Given the description of an element on the screen output the (x, y) to click on. 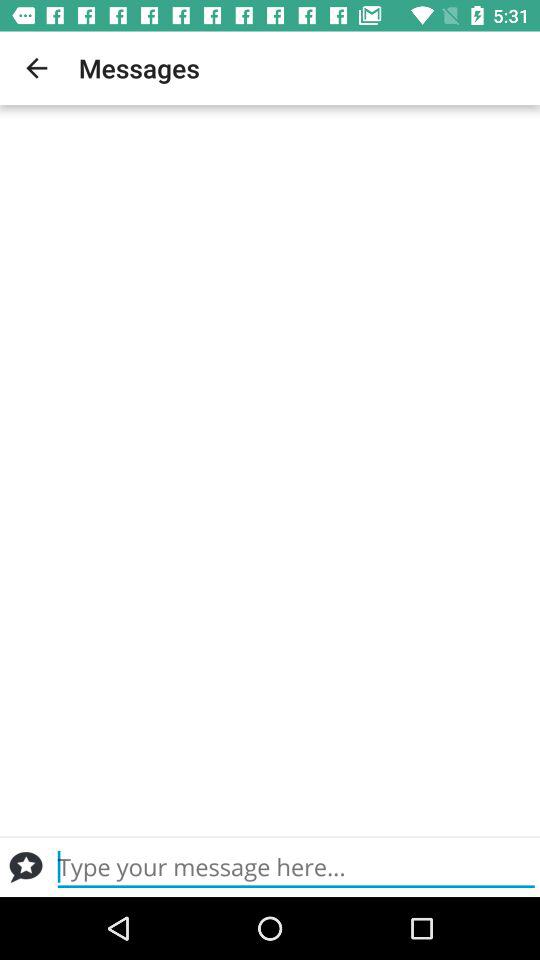
tap icon next to the messages item (36, 68)
